Given the description of an element on the screen output the (x, y) to click on. 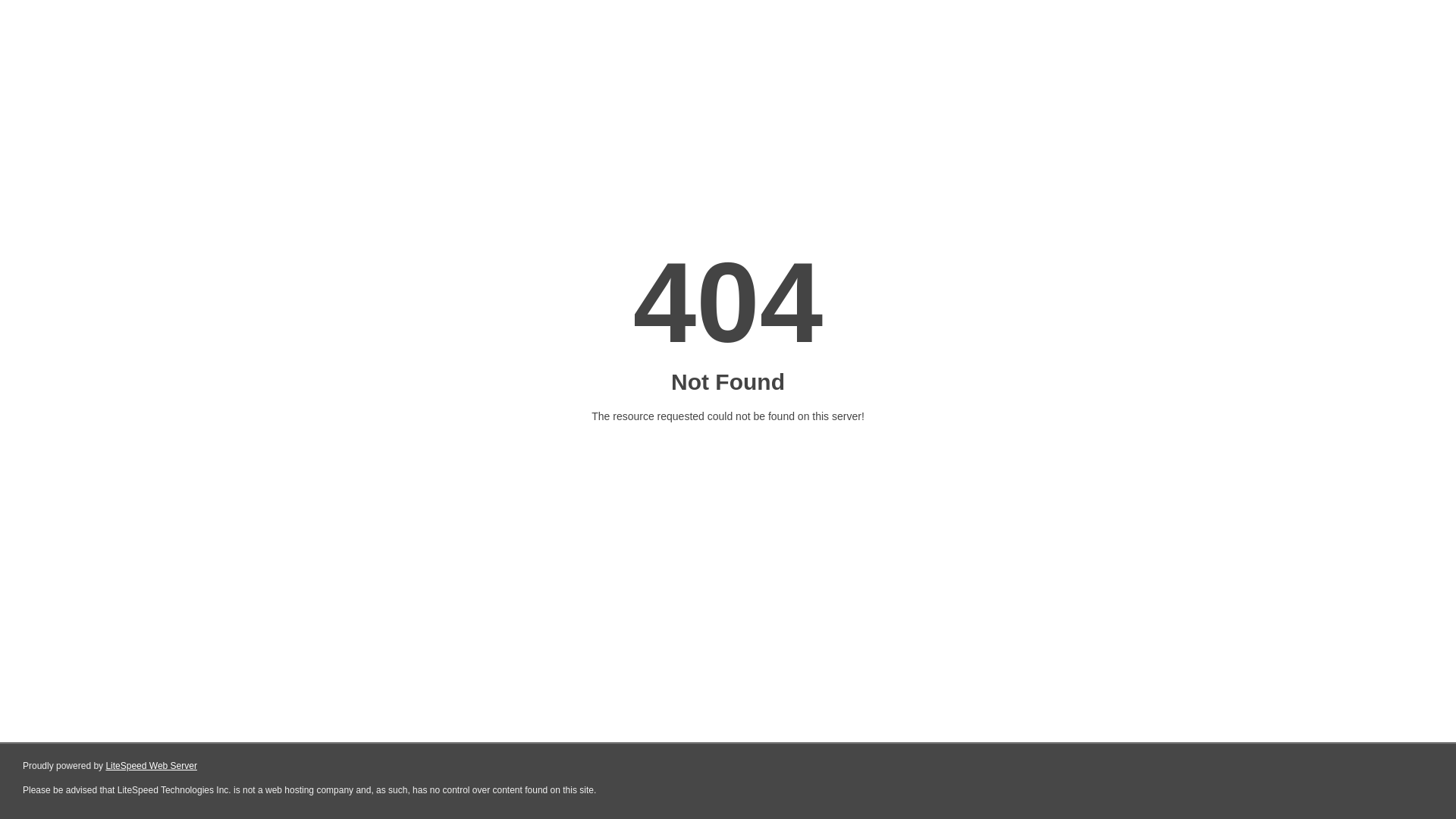
LiteSpeed Web Server Element type: text (151, 765)
